Given the description of an element on the screen output the (x, y) to click on. 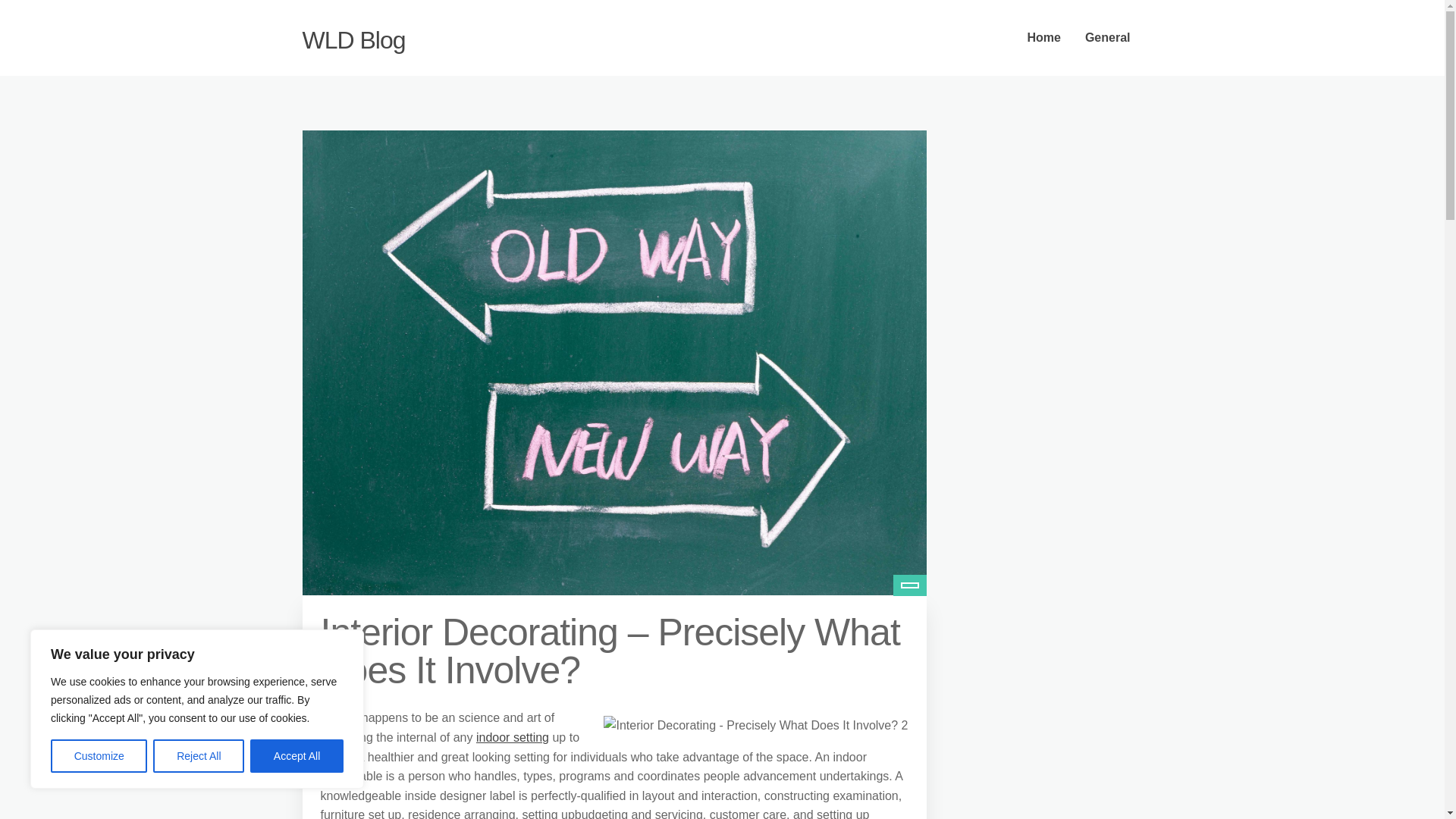
Accept All (296, 756)
General (1107, 37)
WLD Blog (352, 39)
indoor setting (512, 737)
Customize (98, 756)
Reject All (198, 756)
Home (1042, 37)
